Given the description of an element on the screen output the (x, y) to click on. 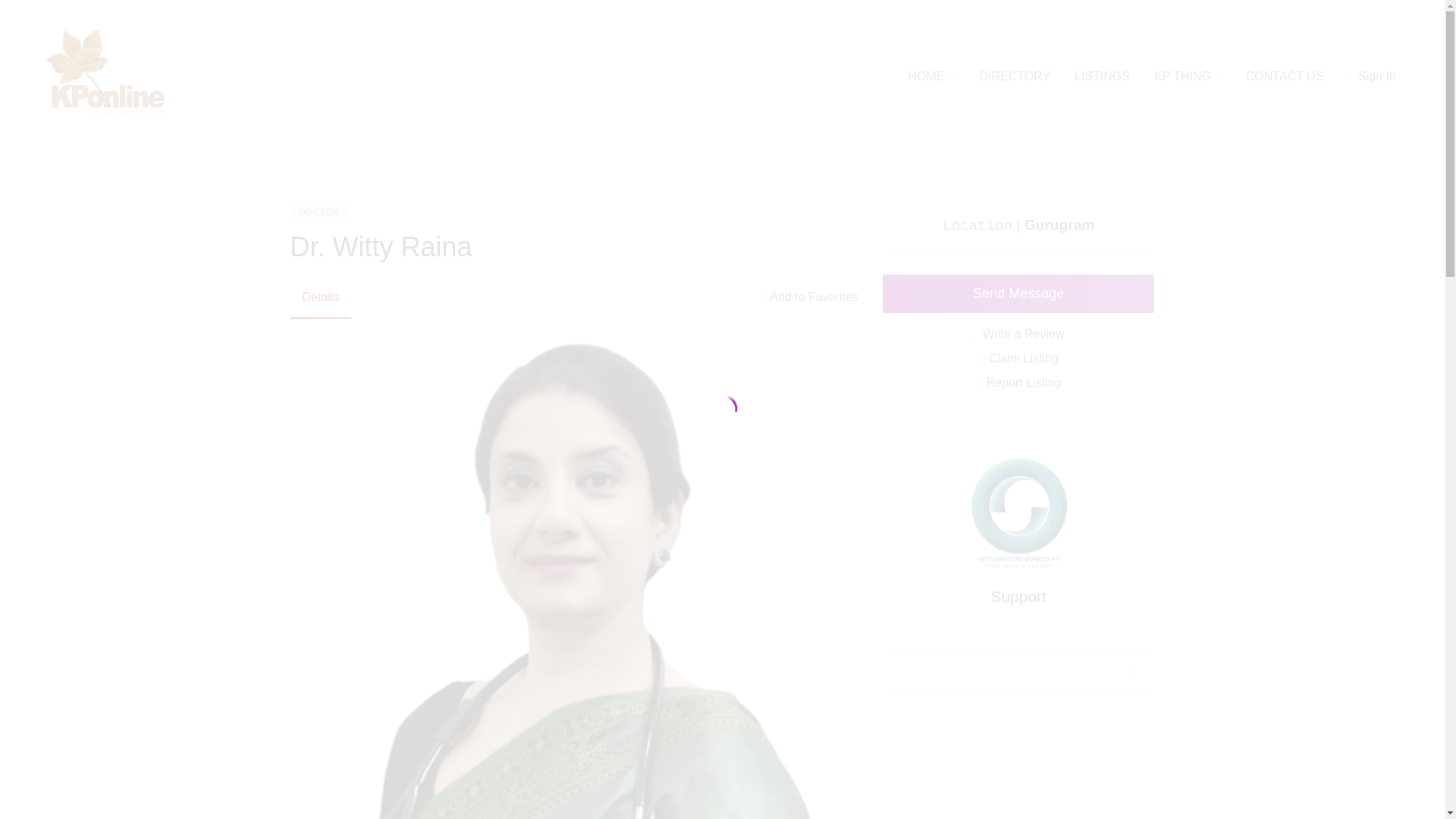
Send Message (1018, 293)
Details (320, 297)
LISTINGS (1101, 75)
Write a Review (1018, 334)
Send Message (1133, 670)
Report Listing (1018, 382)
KP THING (1182, 75)
DOCTOR (318, 212)
DIRECTORY (1013, 75)
Add to Favorites (807, 297)
Sign In (1372, 75)
Claim Listing (1018, 358)
CONTACT US (1284, 75)
HOME (926, 75)
